Given the description of an element on the screen output the (x, y) to click on. 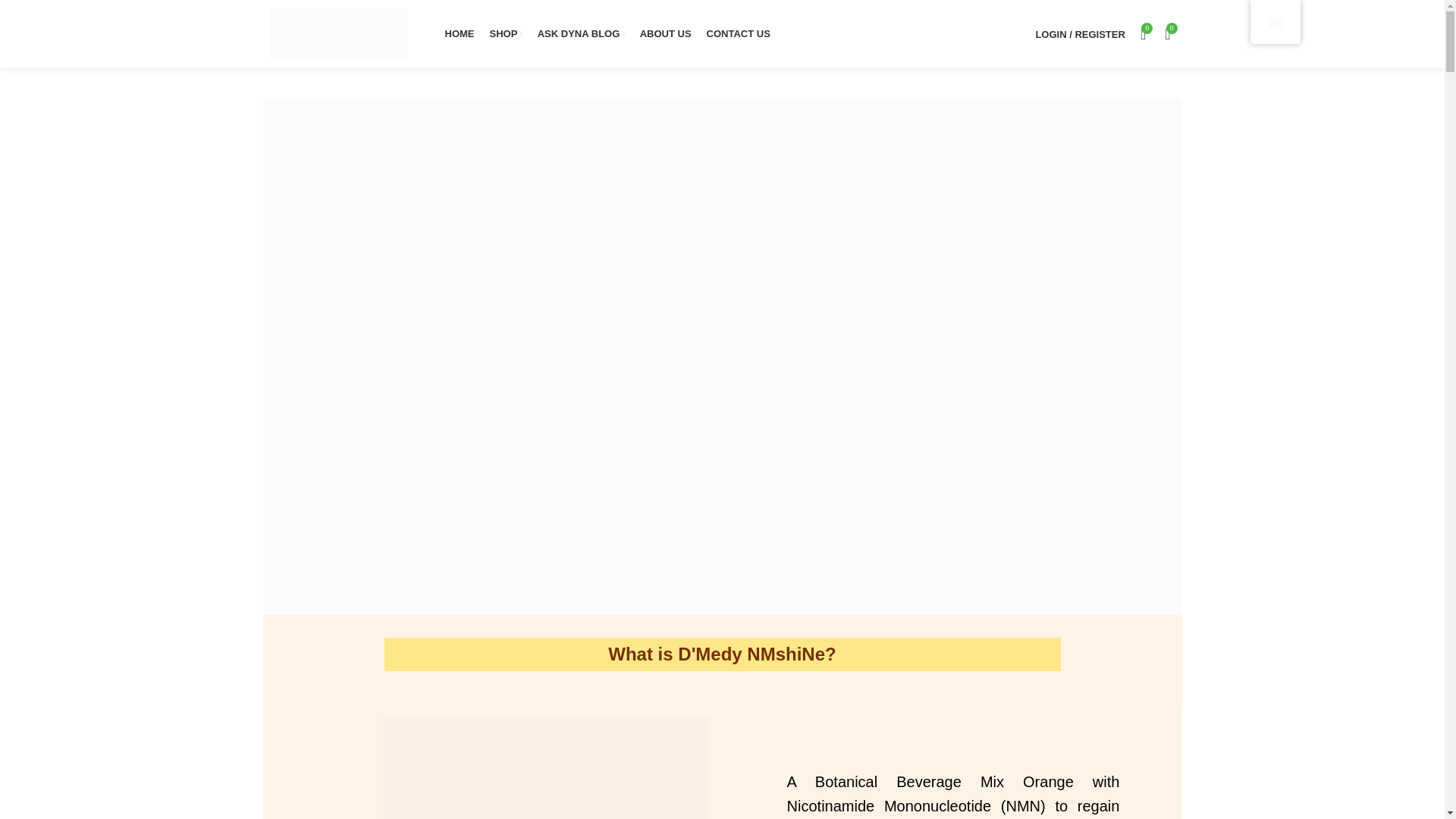
CONTACT US (738, 33)
SHOP (505, 33)
ABOUT US (665, 33)
HOME (459, 33)
ASK DYNA BLOG (580, 33)
My account (1079, 33)
